Given the description of an element on the screen output the (x, y) to click on. 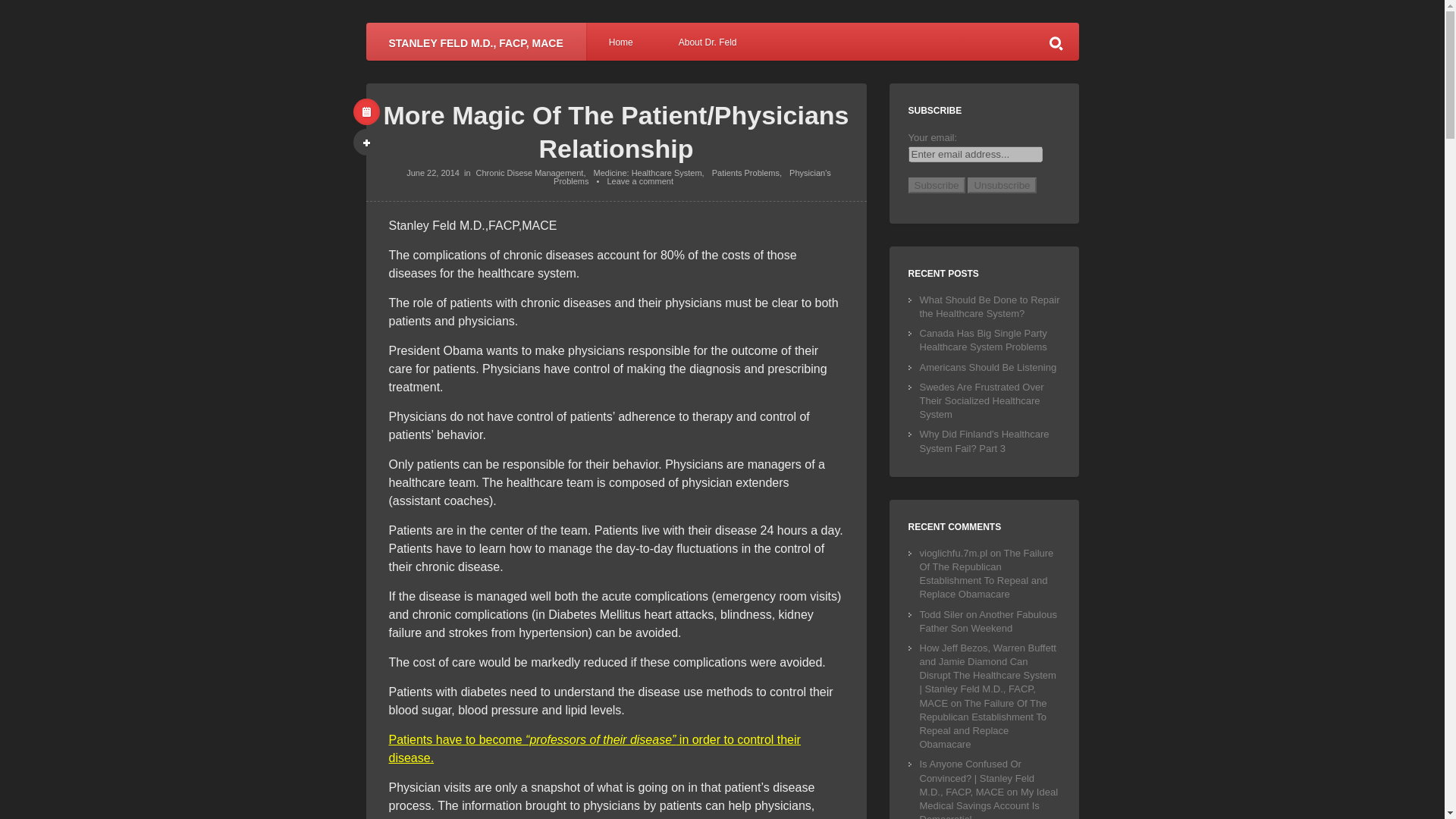
Physician's Problems (692, 176)
STANLEY FELD M.D., FACP, MACE (475, 41)
vioglichfu.7m.pl (952, 552)
Leave a comment (639, 180)
Unsubscribe (1001, 185)
Chronic Disese Management (529, 172)
Todd Siler (940, 614)
About Dr. Feld (708, 41)
Another Fabulous Father Son Weekend (987, 621)
Americans Should Be Listening (987, 367)
Patients Problems (744, 172)
Subscribe (936, 185)
What Should Be Done to Repair the Healthcare System? (988, 306)
